Given the description of an element on the screen output the (x, y) to click on. 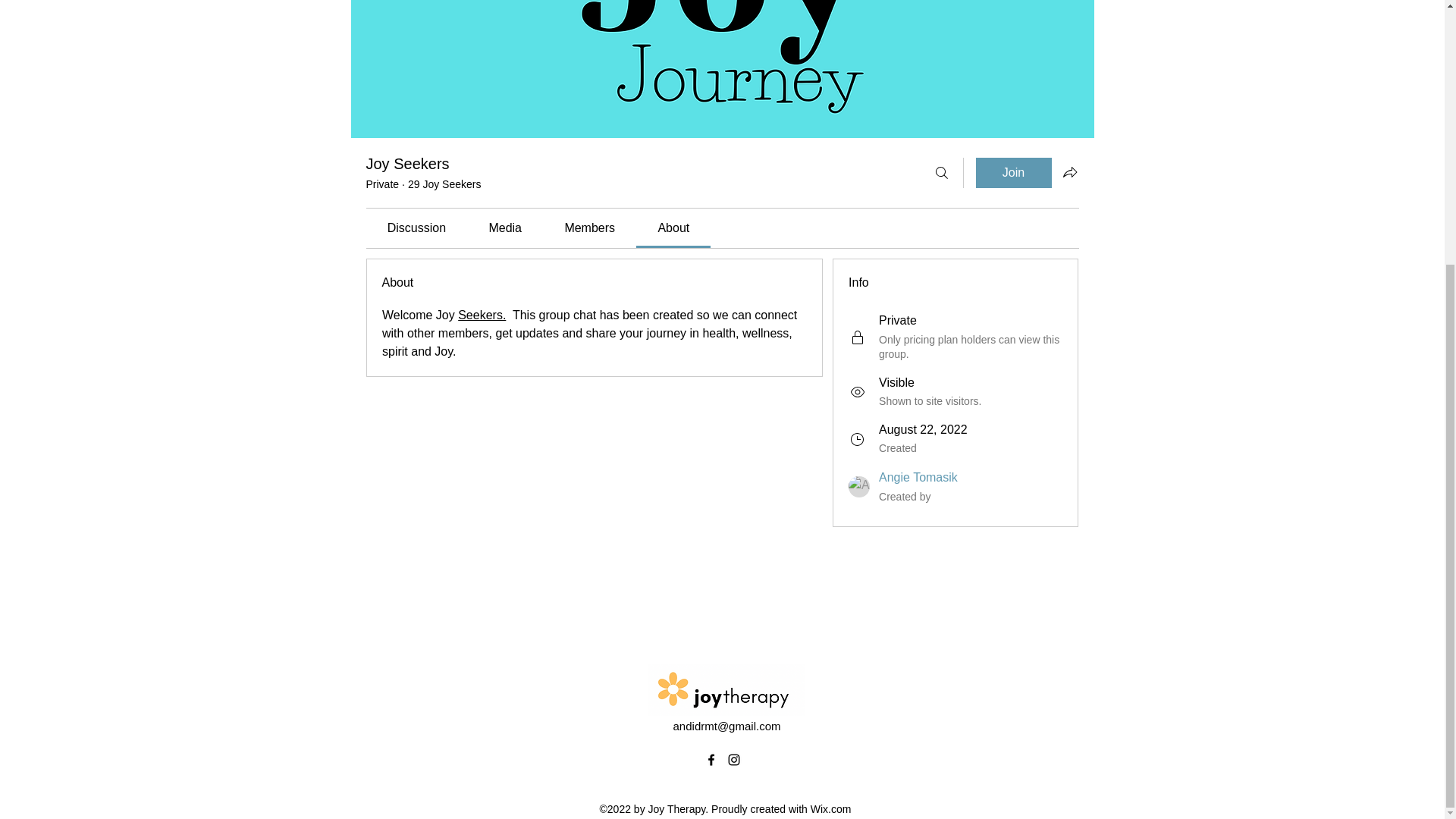
E0D2764B-EB29-4C50-9DAC-A1B7F04E8EF2.png (726, 689)
Join (1013, 173)
Angie Tomasik (858, 486)
Angie Tomasik (918, 477)
